Given the description of an element on the screen output the (x, y) to click on. 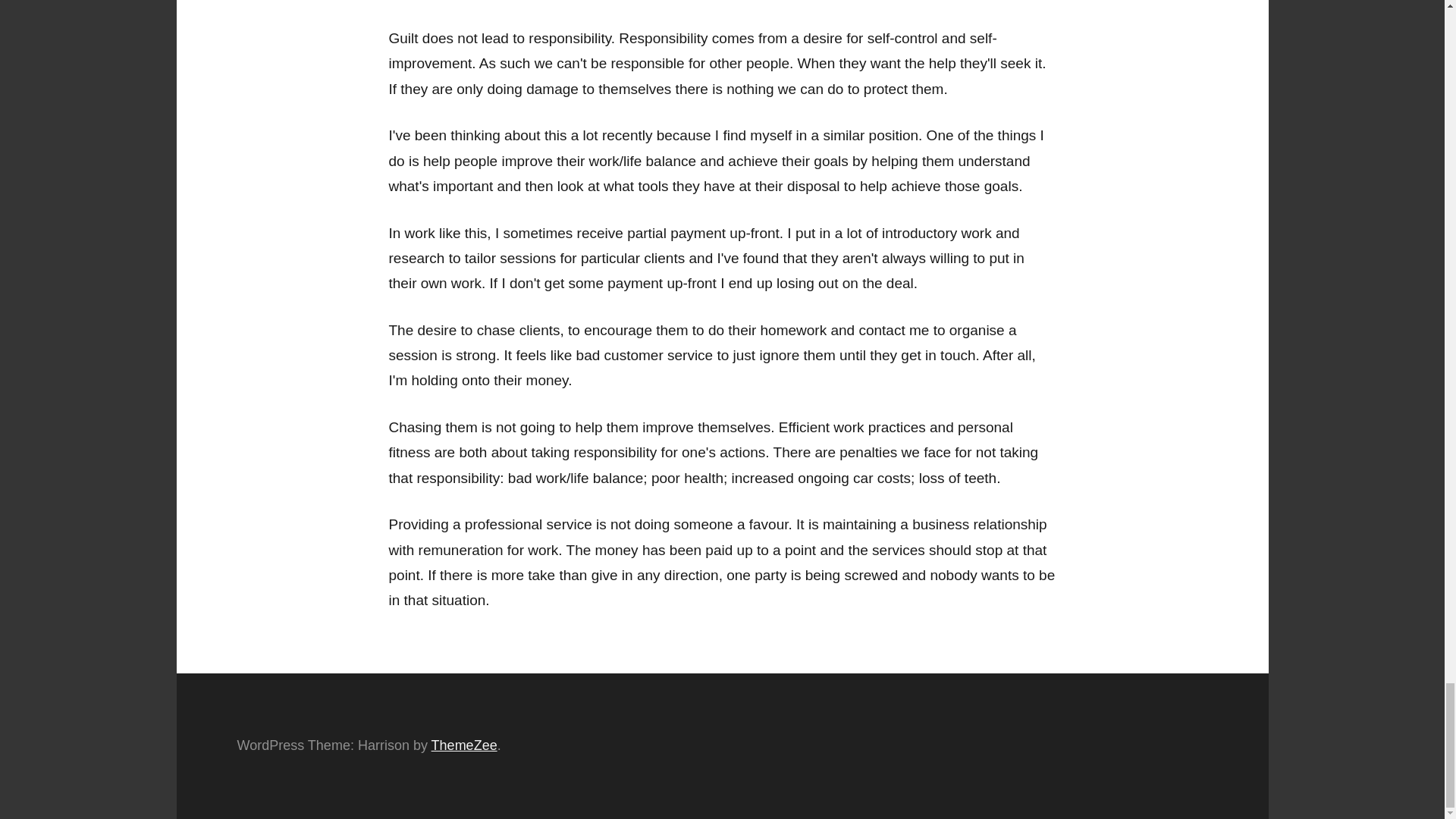
ThemeZee (463, 744)
